Given the description of an element on the screen output the (x, y) to click on. 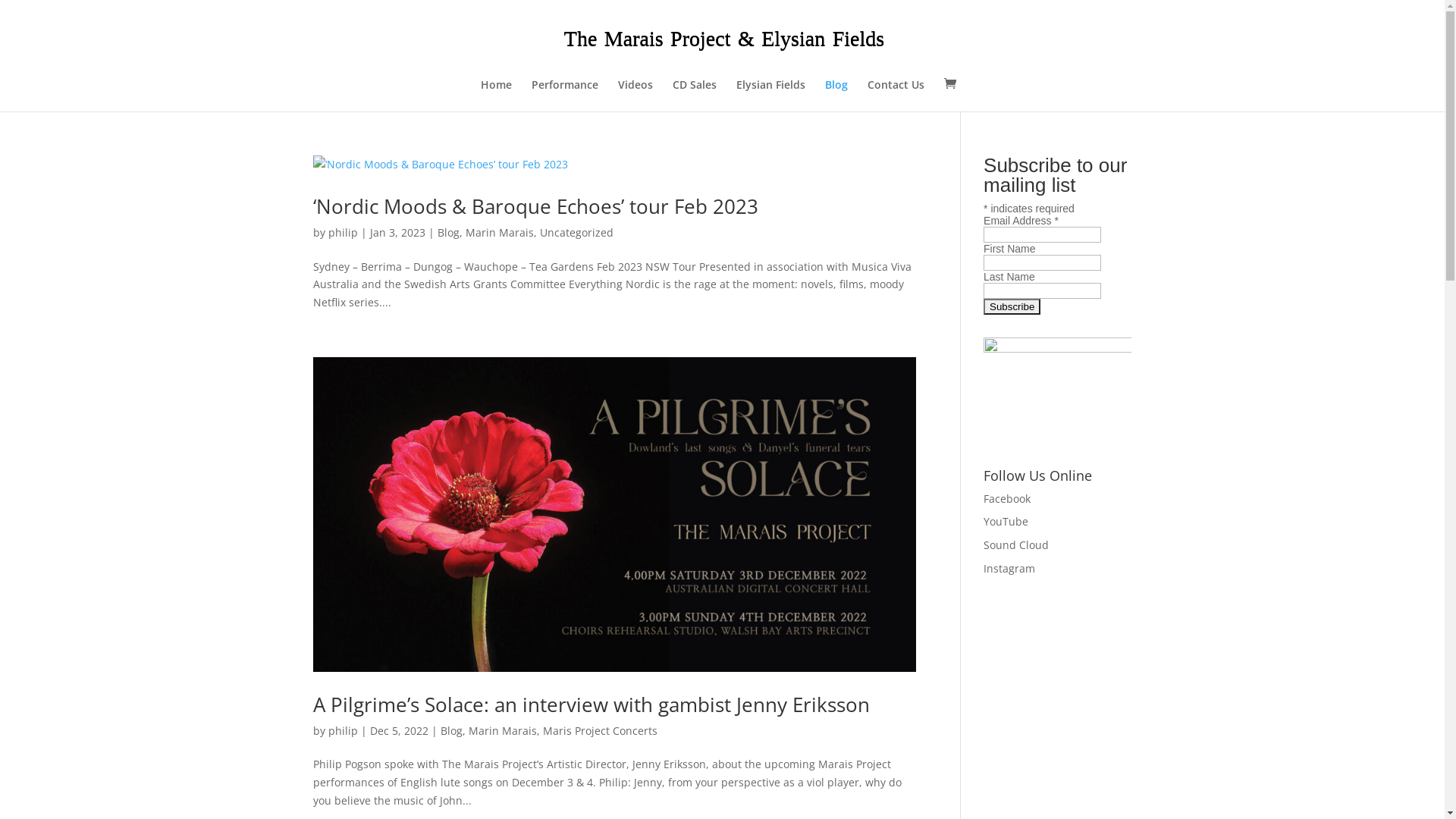
Performance Element type: text (564, 95)
CD Sales Element type: text (694, 95)
philip Element type: text (342, 232)
Instagram Element type: text (1009, 568)
Contact Us Element type: text (895, 95)
Subscribe Element type: text (1011, 306)
YouTube Element type: text (1005, 521)
Marin Marais Element type: text (499, 232)
Elysian Fields Element type: text (770, 95)
Marin Marais Element type: text (502, 730)
Videos Element type: text (635, 95)
Uncategorized Element type: text (576, 232)
Blog Element type: text (450, 730)
Home Element type: text (495, 95)
Maris Project Concerts Element type: text (599, 730)
Facebook Element type: text (1006, 498)
Blog Element type: text (447, 232)
Blog Element type: text (836, 95)
Sound Cloud Element type: text (1015, 544)
philip Element type: text (342, 730)
